Given the description of an element on the screen output the (x, y) to click on. 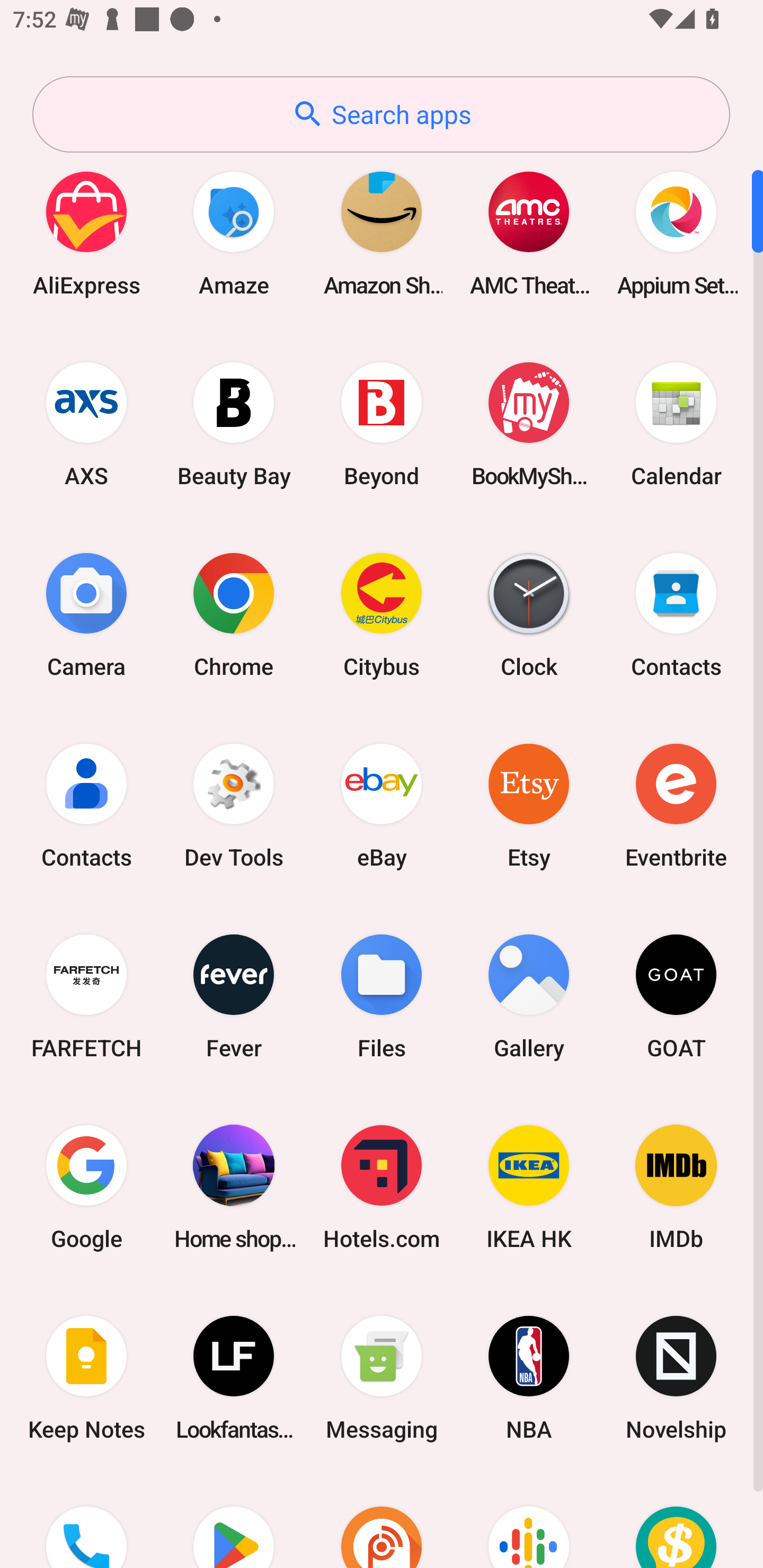
  Search apps (381, 114)
AliExpress (86, 233)
Amaze (233, 233)
Amazon Shopping (381, 233)
AMC Theatres (528, 233)
Appium Settings (676, 233)
AXS (86, 424)
Beauty Bay (233, 424)
Beyond (381, 424)
BookMyShow (528, 424)
Calendar (676, 424)
Camera (86, 614)
Chrome (233, 614)
Citybus (381, 614)
Clock (528, 614)
Contacts (676, 614)
Contacts (86, 805)
Dev Tools (233, 805)
eBay (381, 805)
Etsy (528, 805)
Eventbrite (676, 805)
FARFETCH (86, 996)
Fever (233, 996)
Files (381, 996)
Gallery (528, 996)
GOAT (676, 996)
Google (86, 1186)
Home shopping (233, 1186)
Hotels.com (381, 1186)
IKEA HK (528, 1186)
IMDb (676, 1186)
Keep Notes (86, 1377)
Lookfantastic (233, 1377)
Messaging (381, 1377)
NBA (528, 1377)
Novelship (676, 1377)
Phone (86, 1520)
Play Store (233, 1520)
Podcast Addict (381, 1520)
Podcasts (528, 1520)
Price (676, 1520)
